Given the description of an element on the screen output the (x, y) to click on. 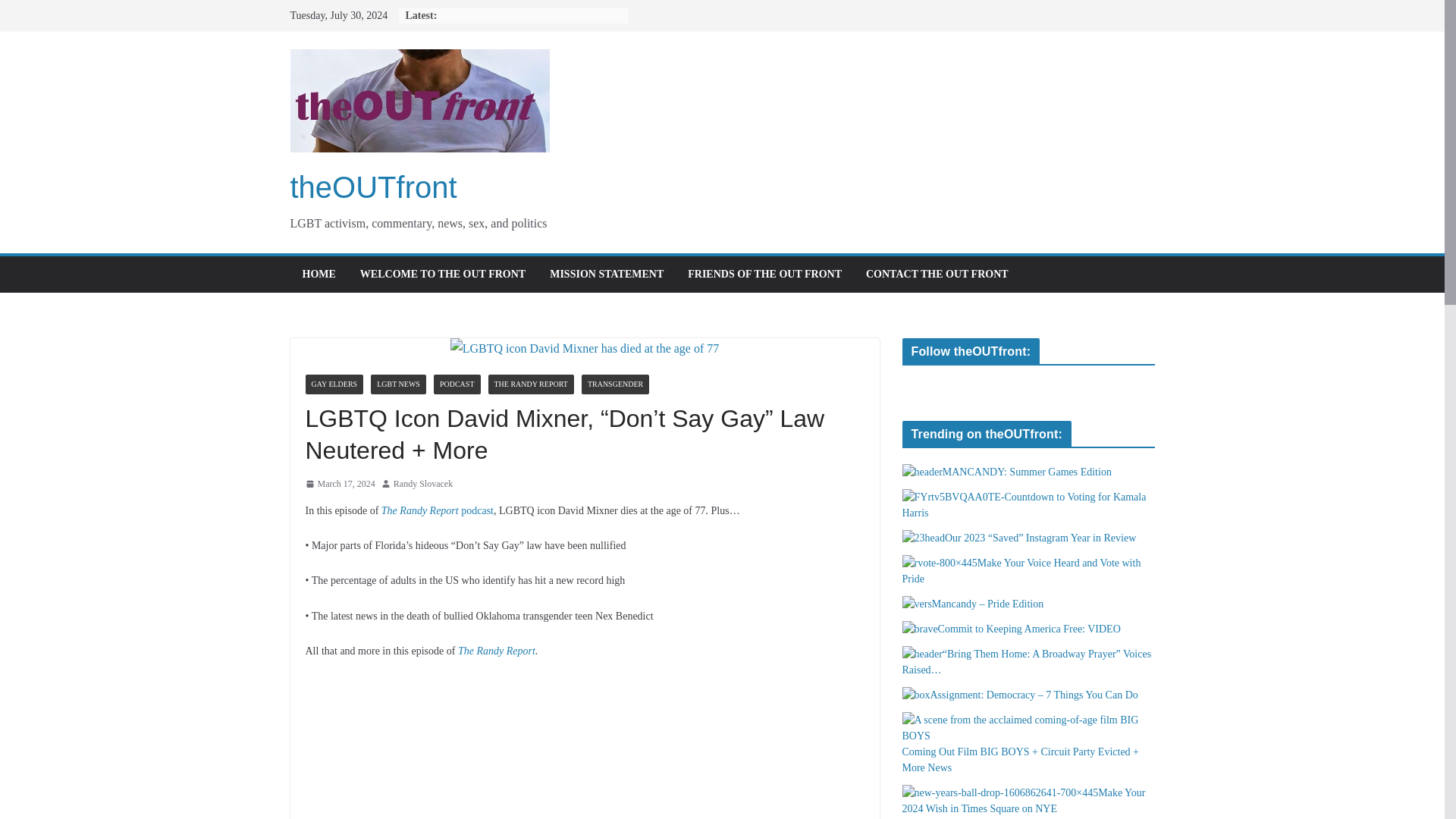
GAY ELDERS (333, 383)
LGBT NEWS (398, 383)
THE RANDY REPORT (530, 383)
MISSION STATEMENT (606, 274)
March 17, 2024 (339, 484)
TRANSGENDER (614, 383)
theOUTfront (373, 186)
WELCOME TO THE OUT FRONT (442, 274)
FRIENDS OF THE OUT FRONT (764, 274)
CONTACT THE OUT FRONT (937, 274)
7:17 pm (339, 484)
The Randy Report (496, 650)
theOUTfront (373, 186)
The Randy Report podcast (437, 510)
Randy Slovacek (422, 484)
